Given the description of an element on the screen output the (x, y) to click on. 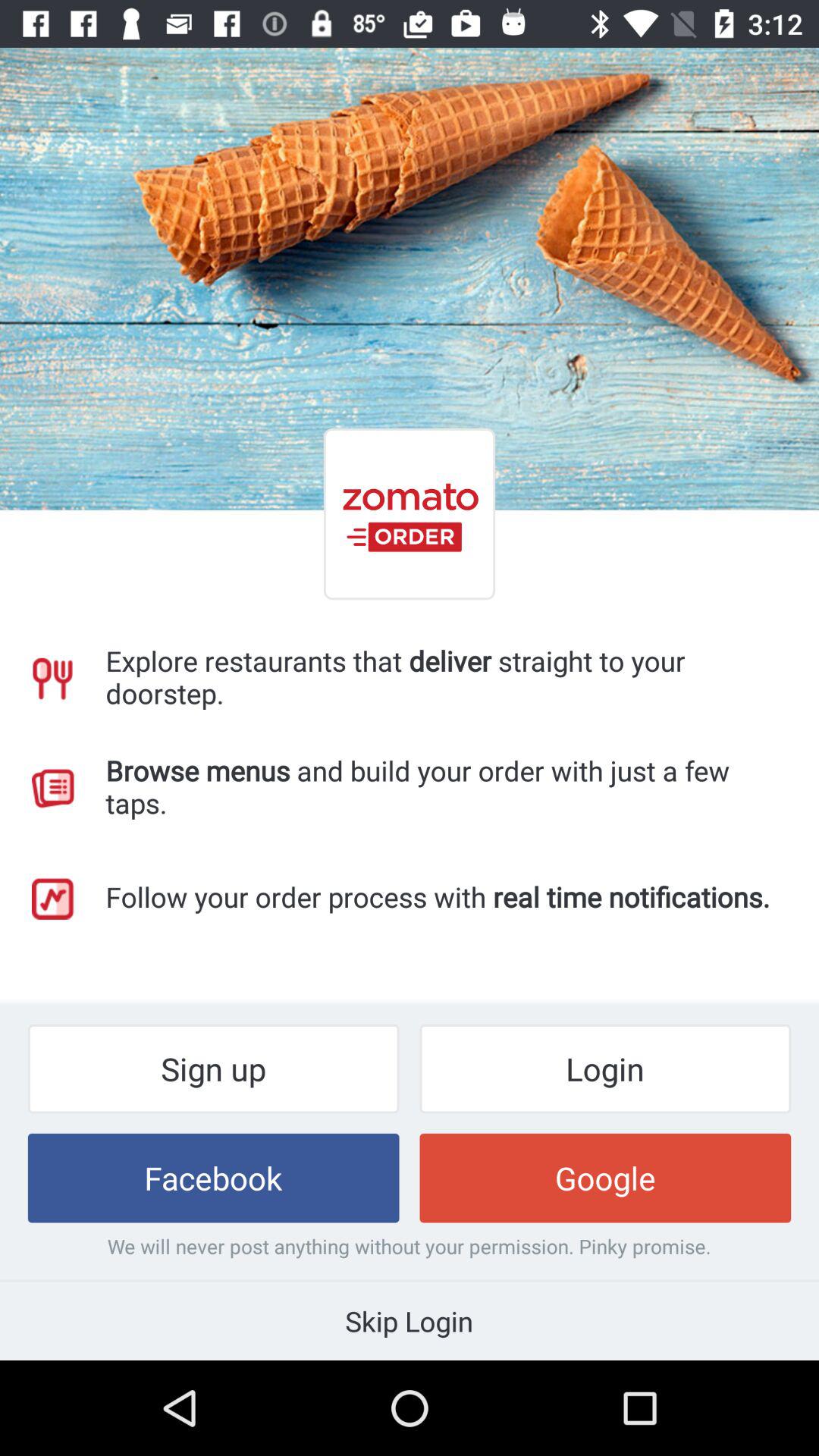
jump until facebook item (213, 1177)
